Given the description of an element on the screen output the (x, y) to click on. 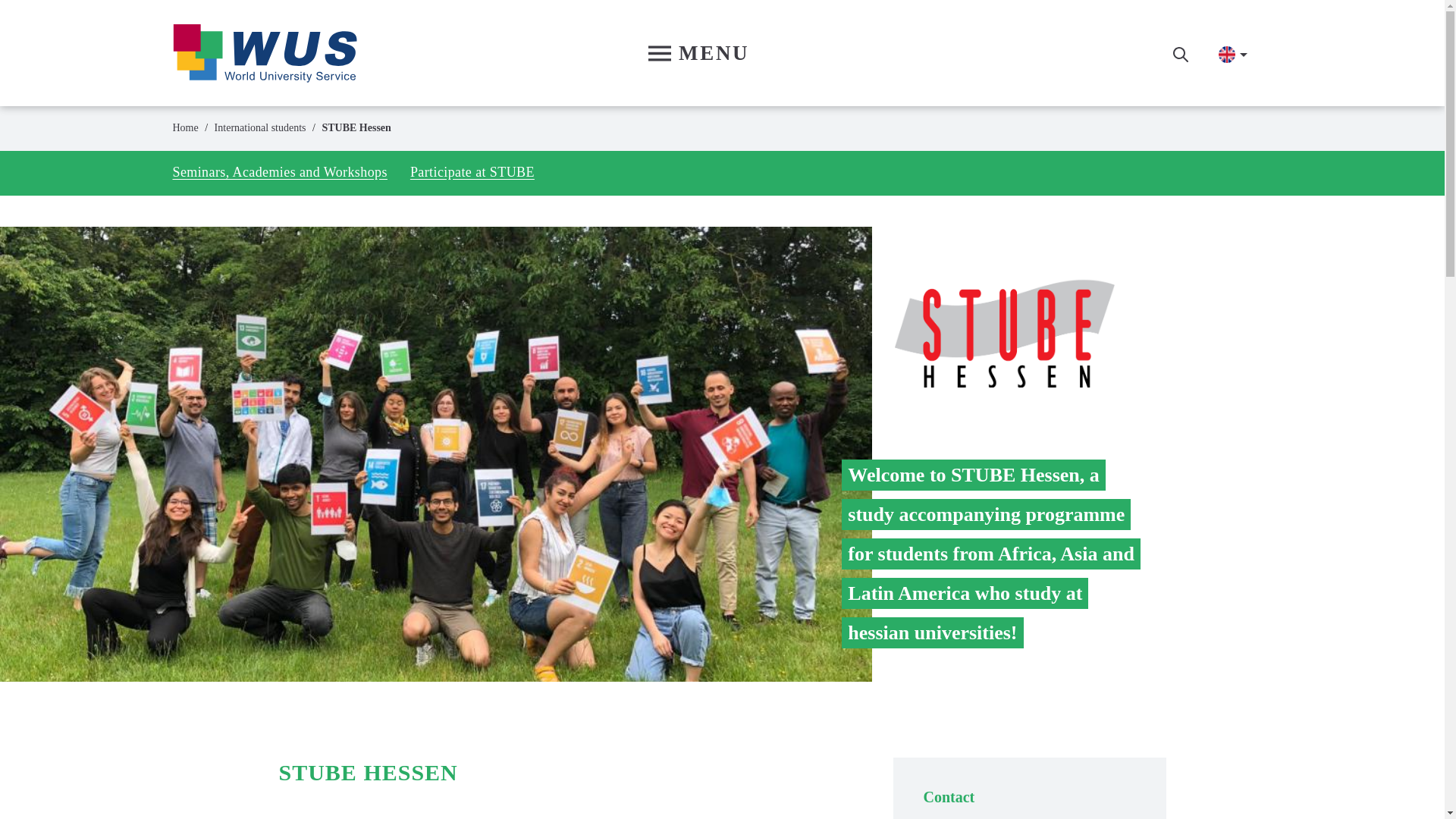
International students (259, 127)
Home (185, 127)
English (1226, 54)
Home (264, 51)
